Given the description of an element on the screen output the (x, y) to click on. 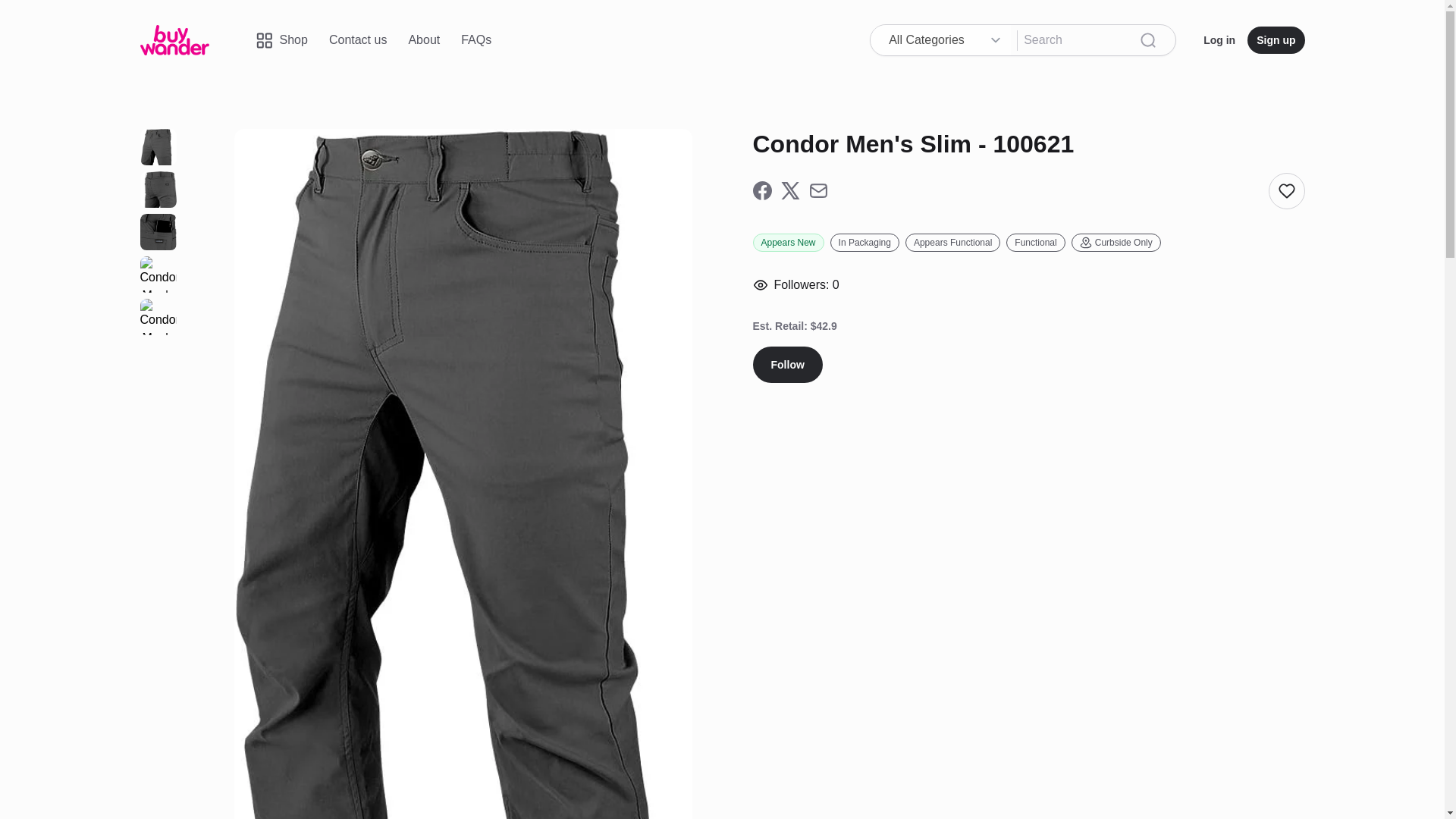
FAQs (475, 39)
Contact us (358, 39)
Shop (281, 39)
Log in (1219, 39)
Sign up (1275, 40)
About (423, 39)
Follow (787, 364)
